Given the description of an element on the screen output the (x, y) to click on. 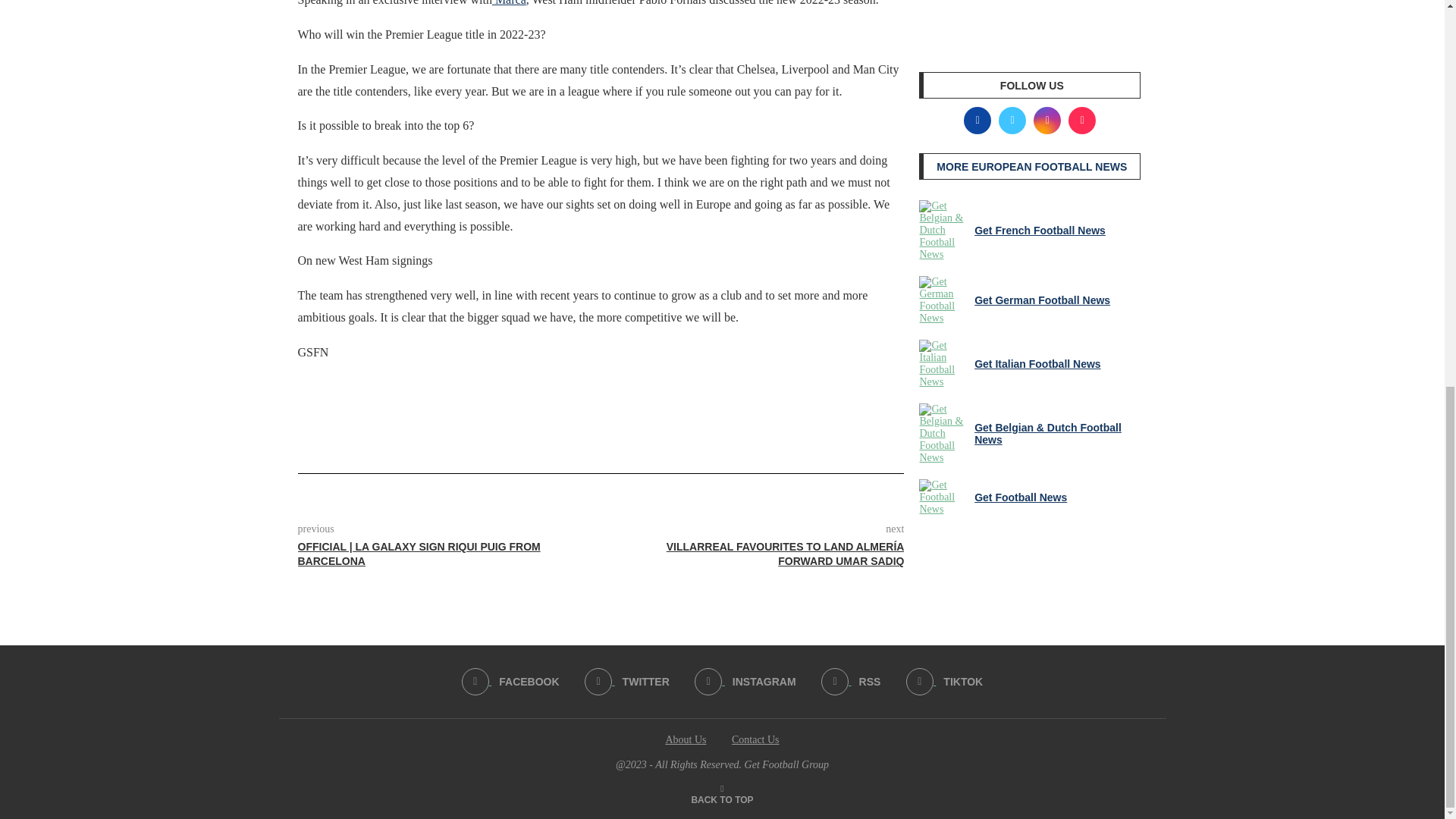
Get Italian Football News (943, 363)
Get German Football News (943, 300)
Get Football News (943, 497)
